Given the description of an element on the screen output the (x, y) to click on. 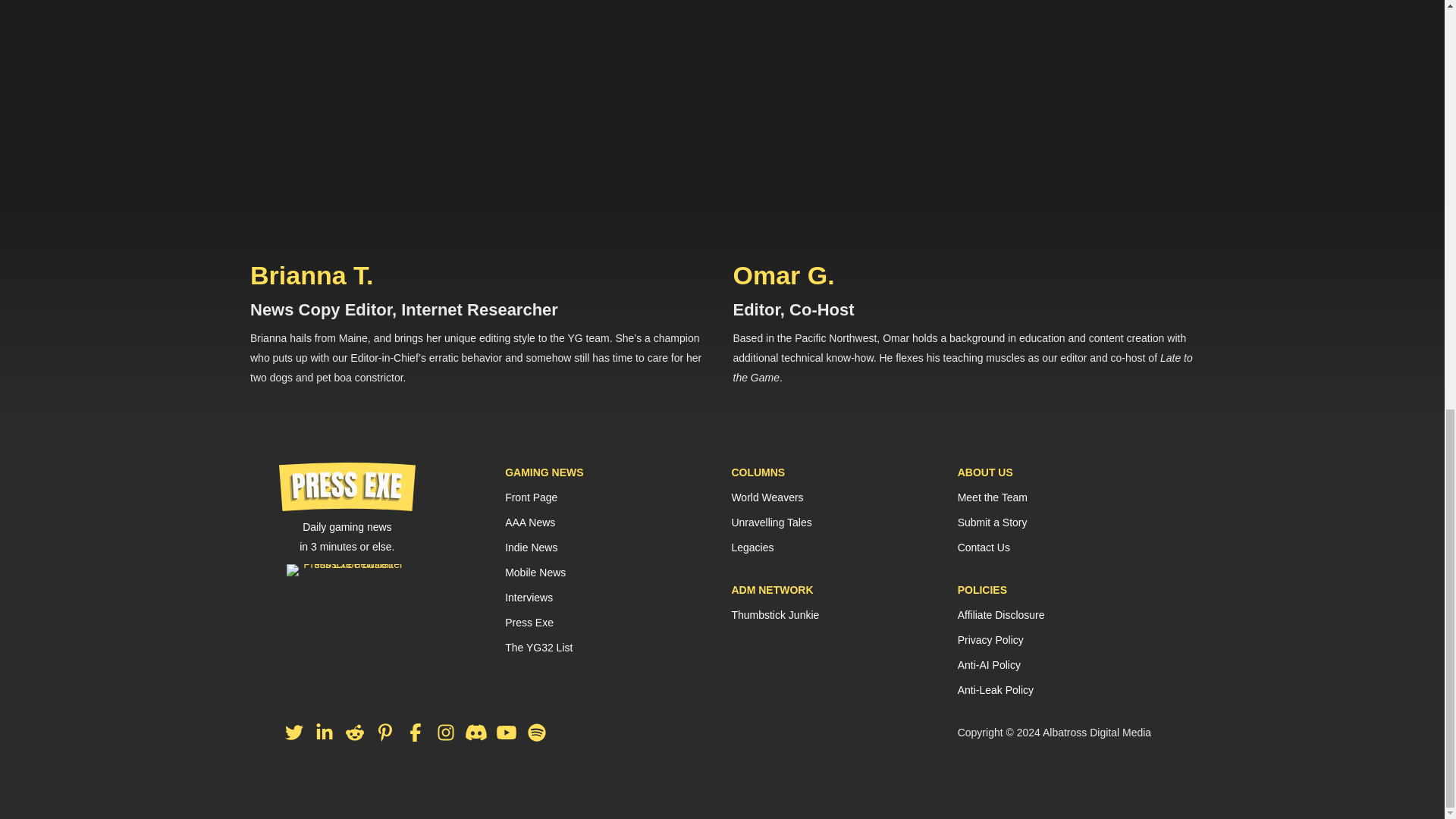
Meet the Team (992, 497)
Interviews (529, 597)
Submit a Story (992, 522)
Unravelling Tales (770, 522)
World Weavers (766, 497)
Affiliate Disclosure (1001, 614)
Anti-AI Policy (989, 664)
The YG32 List (538, 647)
Mobile News (535, 572)
Front Page (531, 497)
